Given the description of an element on the screen output the (x, y) to click on. 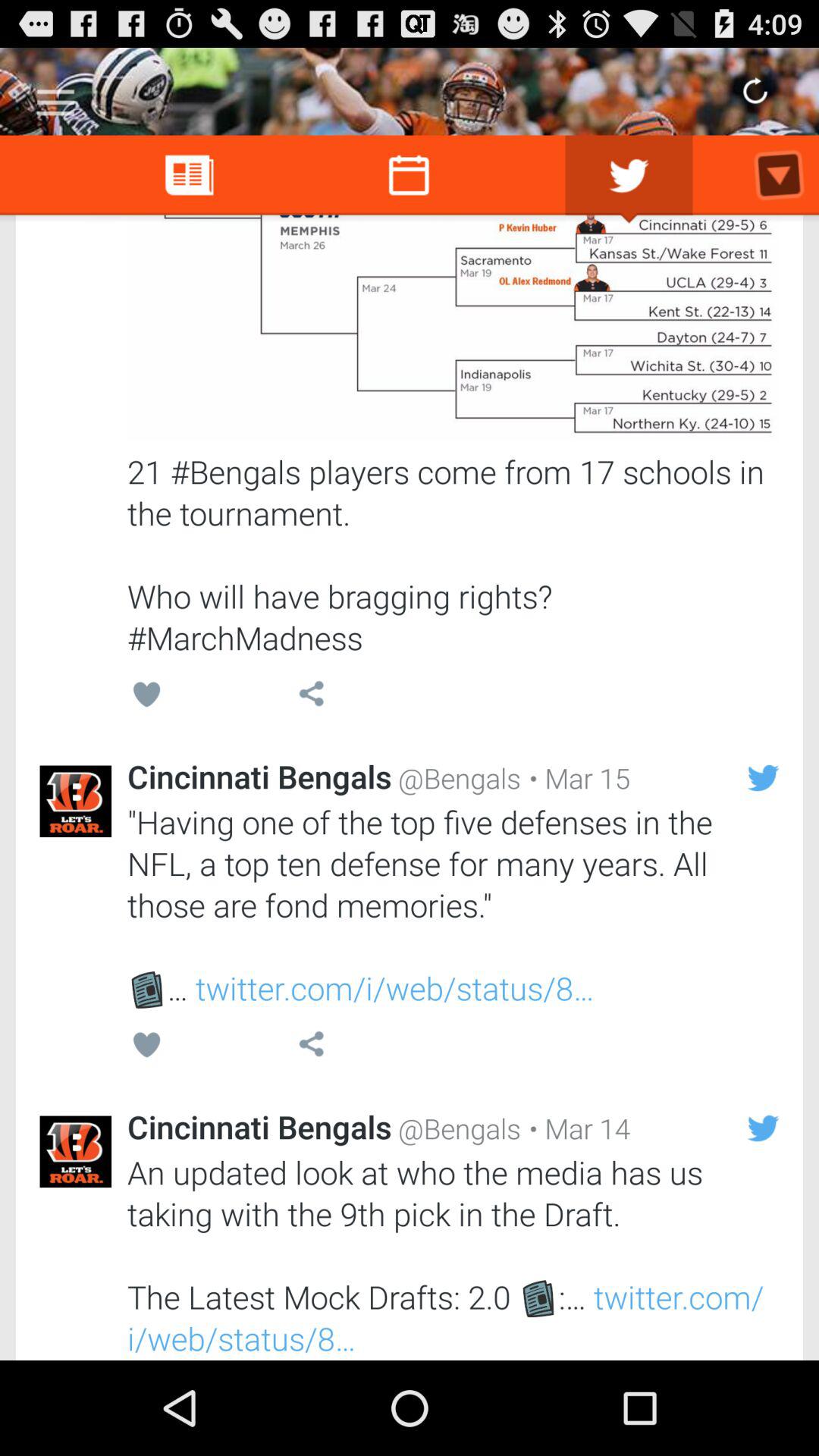
press the item above having one of item (575, 777)
